Given the description of an element on the screen output the (x, y) to click on. 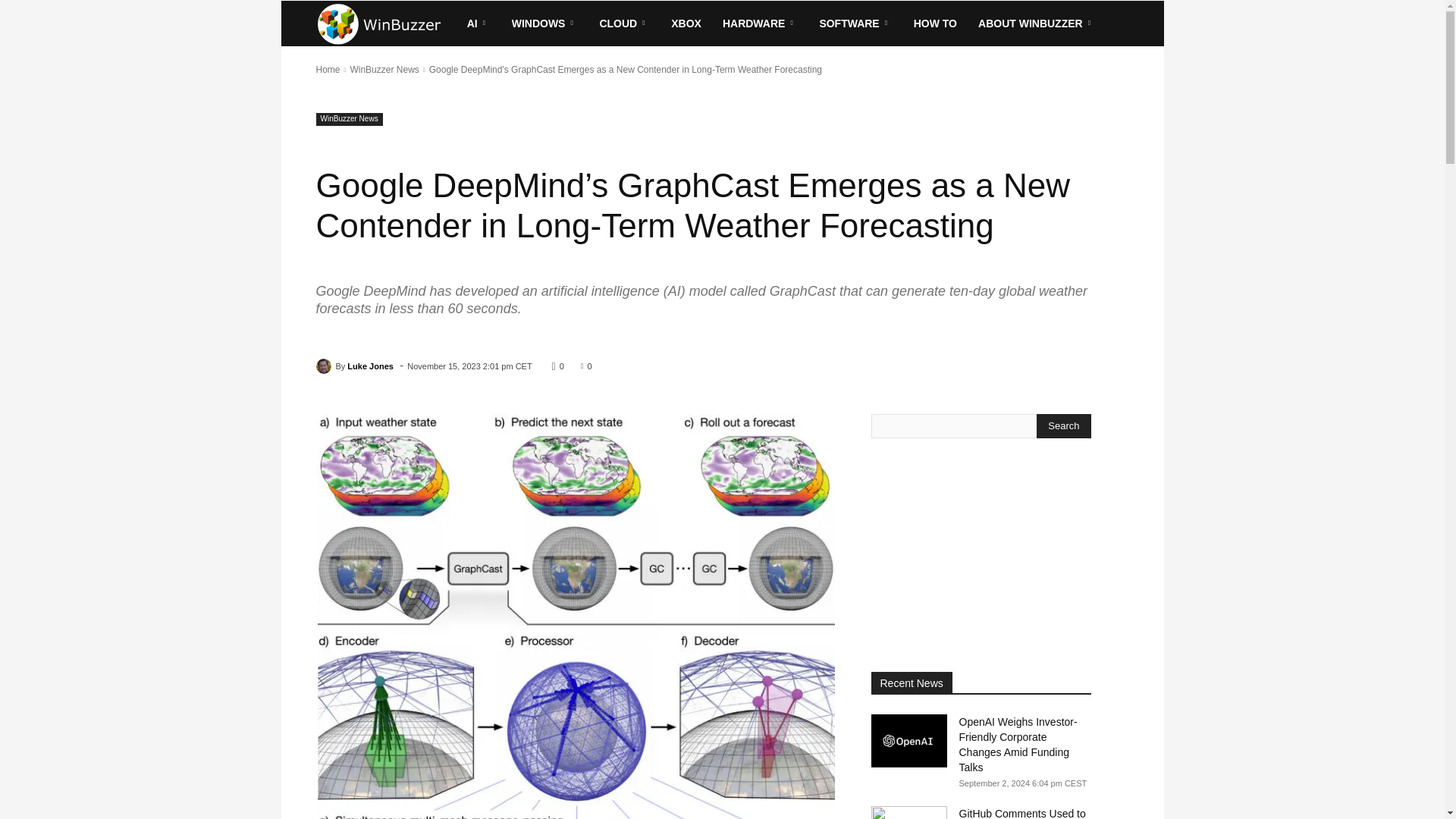
Luke Jones (324, 365)
Search (1063, 426)
View all posts in WinBuzzer News (384, 69)
